Given the description of an element on the screen output the (x, y) to click on. 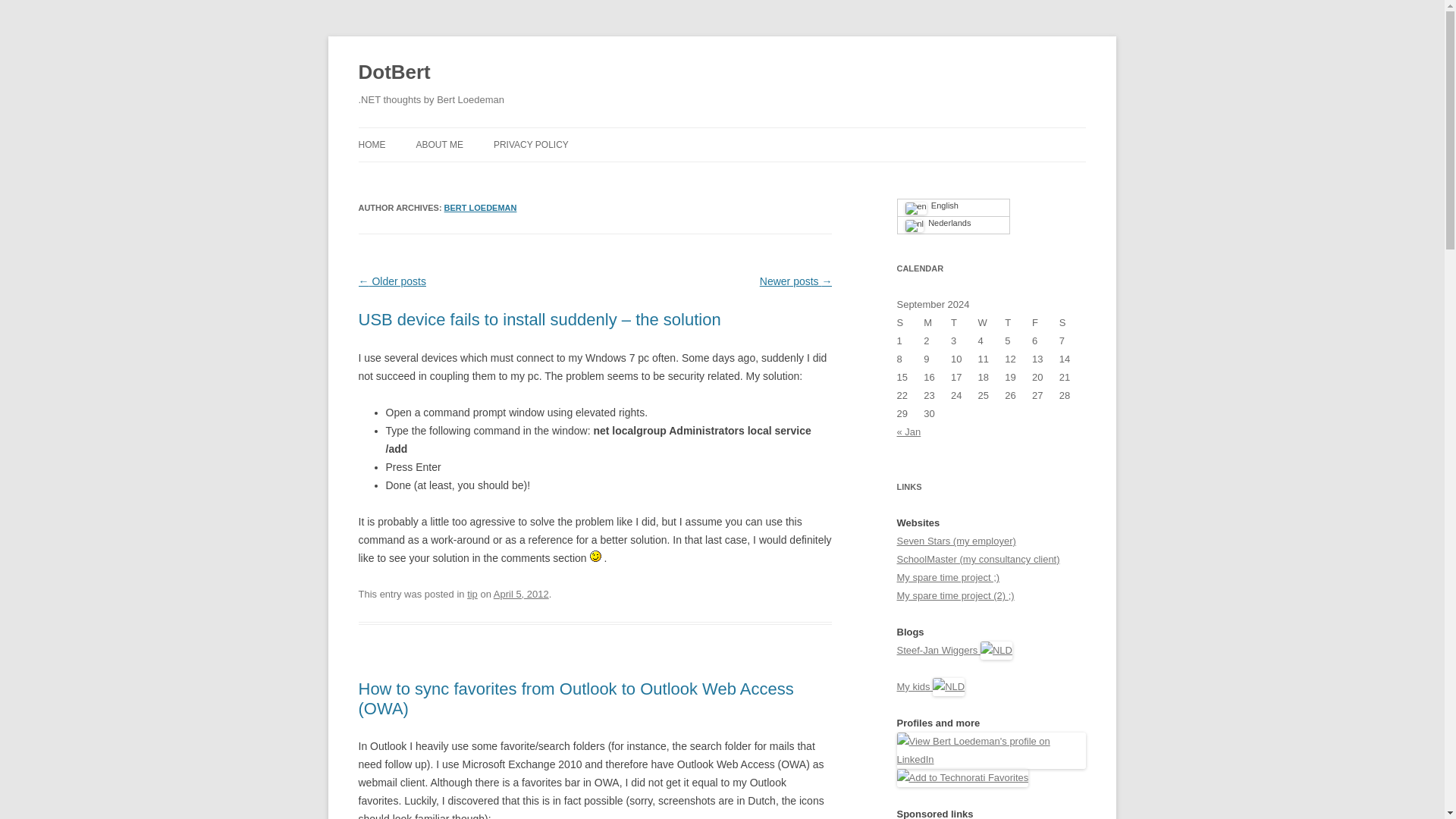
tip (472, 593)
  English (952, 208)
10:15 pm (520, 593)
DotBert (393, 72)
Skip to content (757, 132)
  Nederlands (952, 225)
PRIVACY POLICY (531, 144)
DotBert (393, 72)
BERT LOEDEMAN (480, 207)
Bert Loedeman (480, 207)
